Given the description of an element on the screen output the (x, y) to click on. 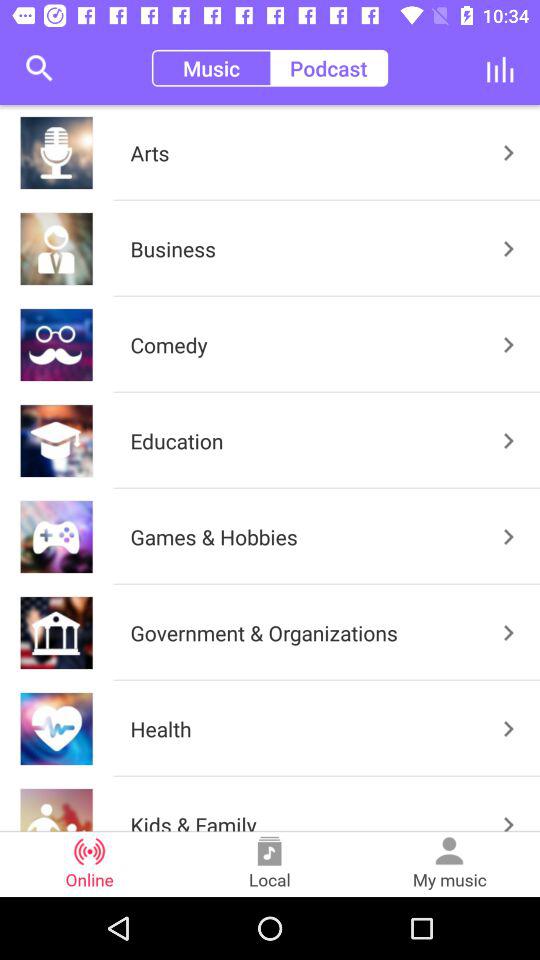
select the icon to the left of the arts (39, 68)
